Given the description of an element on the screen output the (x, y) to click on. 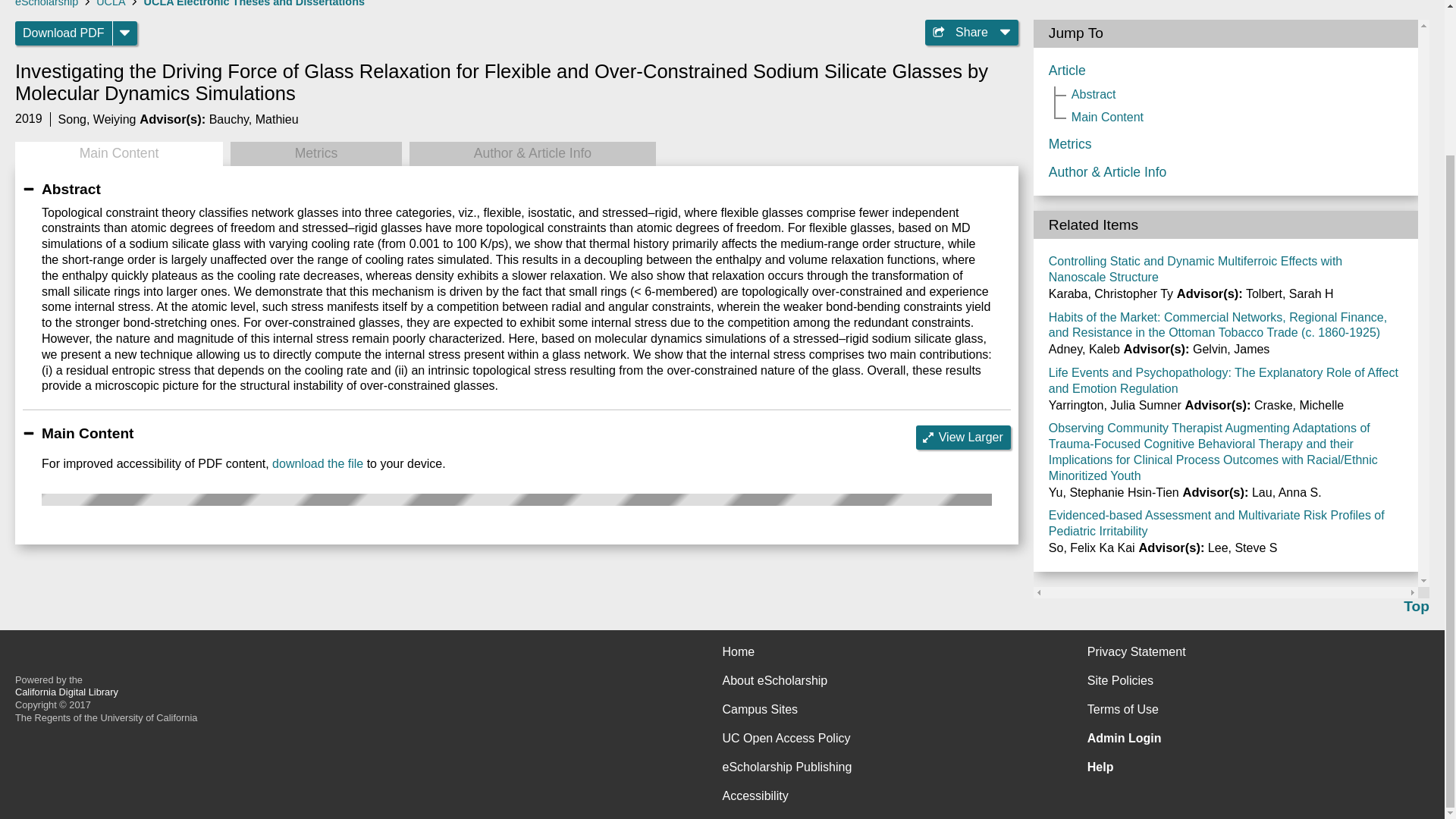
Main Content (118, 153)
UCLA (110, 3)
Download PDF (63, 33)
eScholarship (46, 3)
download the file (317, 463)
UCLA Electronic Theses and Dissertations (254, 3)
Song, Weiying (97, 119)
Metrics (315, 153)
Bauchy, Mathieu (253, 119)
View Larger (962, 437)
